Given the description of an element on the screen output the (x, y) to click on. 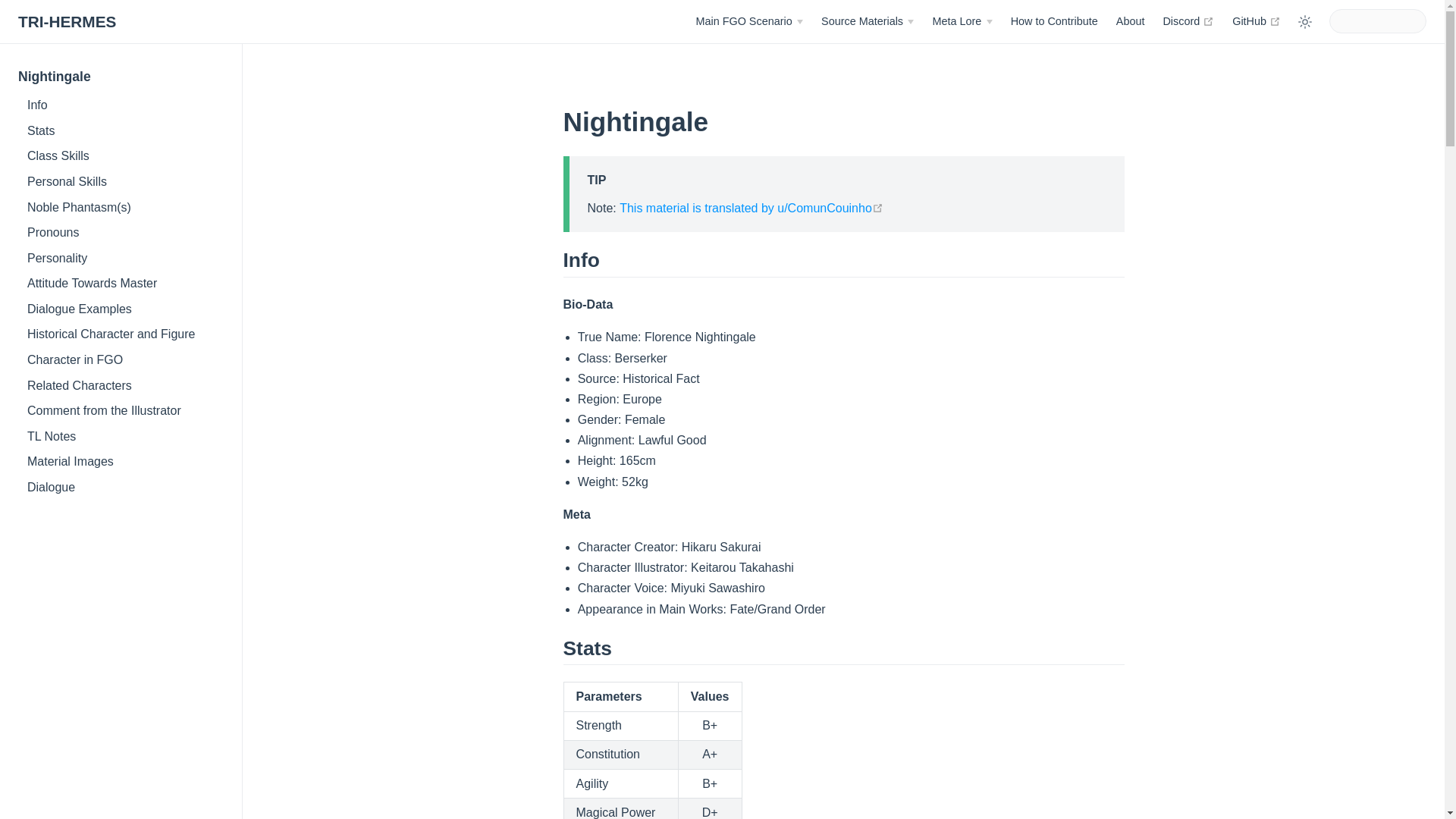
Main FGO Scenario (749, 21)
How to Contribute (1053, 21)
Meta Lore (961, 21)
About (1130, 21)
TRI-HERMES (66, 22)
Source Materials (867, 21)
toggle dark mode (1256, 21)
